Given the description of an element on the screen output the (x, y) to click on. 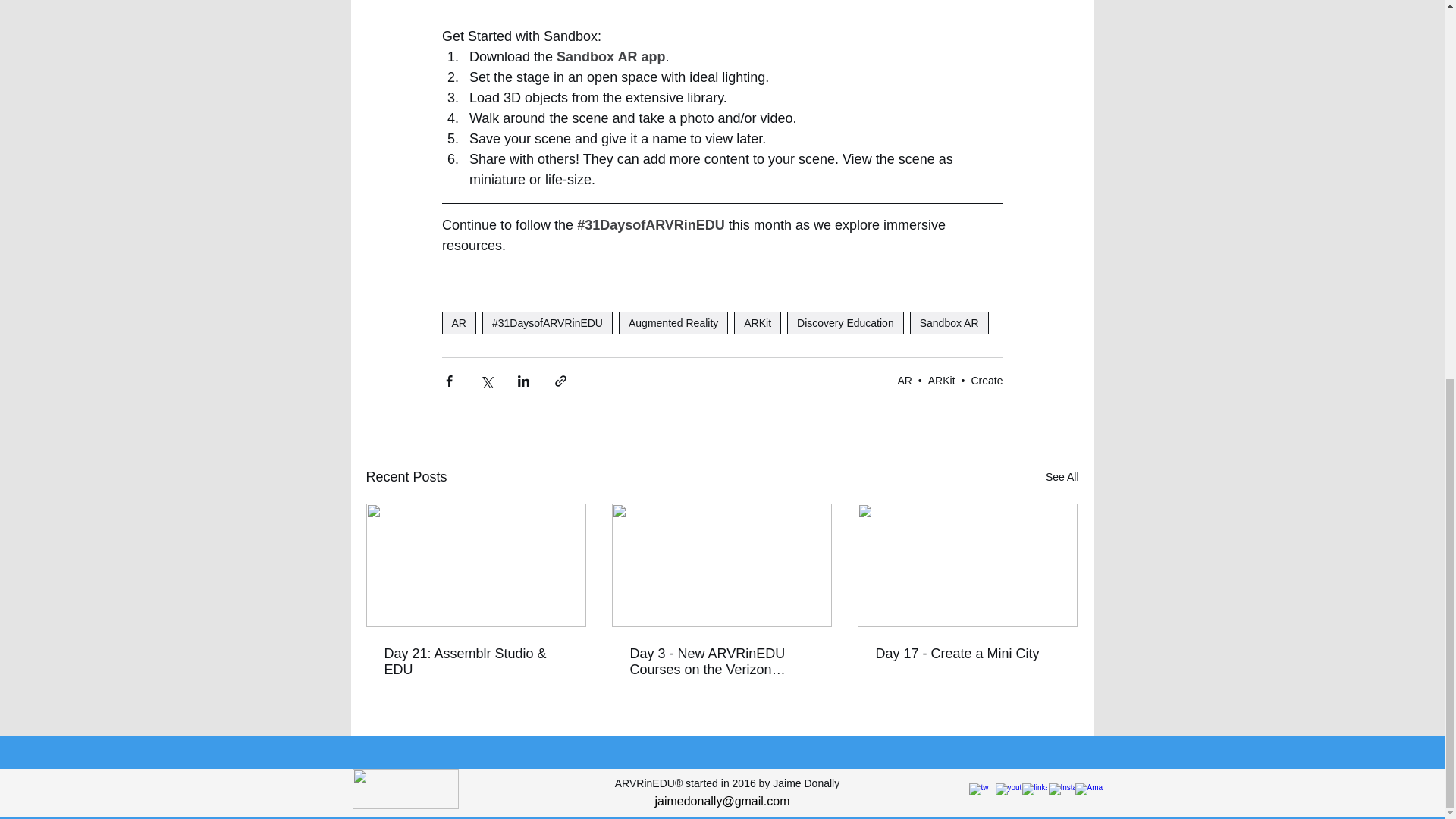
Augmented Reality (673, 323)
Sandbox AR (949, 323)
AR (458, 323)
ARKit (756, 323)
Sandbox AR app (610, 56)
Discovery Education (845, 323)
